Given the description of an element on the screen output the (x, y) to click on. 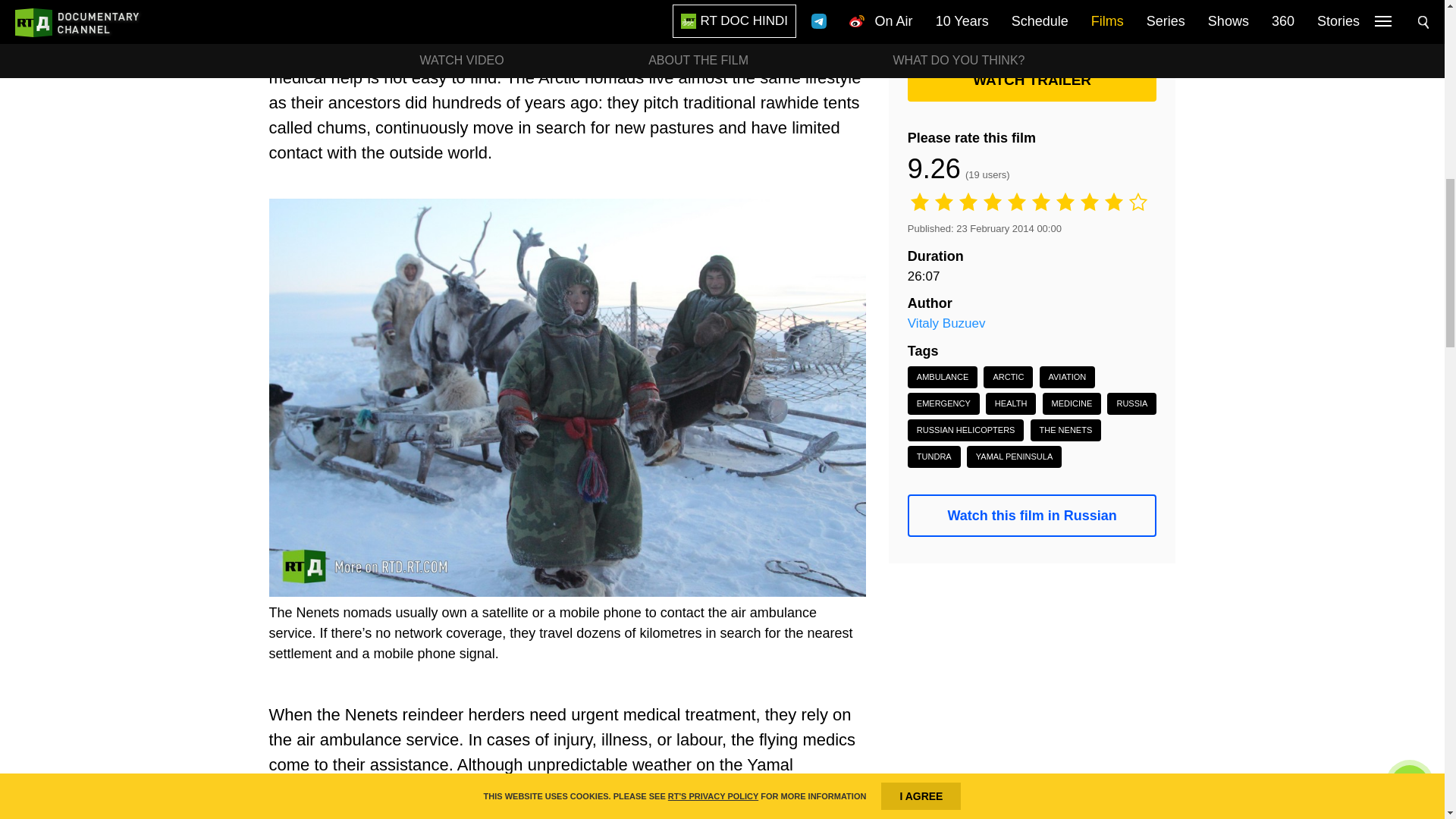
EMERGENCY (943, 403)
HEALTH (1010, 403)
AMBULANCE (941, 377)
ARCTIC (1008, 377)
WATCH TRAILER (1032, 79)
RUSSIA (1131, 403)
AVIATION (1066, 377)
Vitaly Buzuev (946, 323)
MEDICINE (1072, 403)
